Given the description of an element on the screen output the (x, y) to click on. 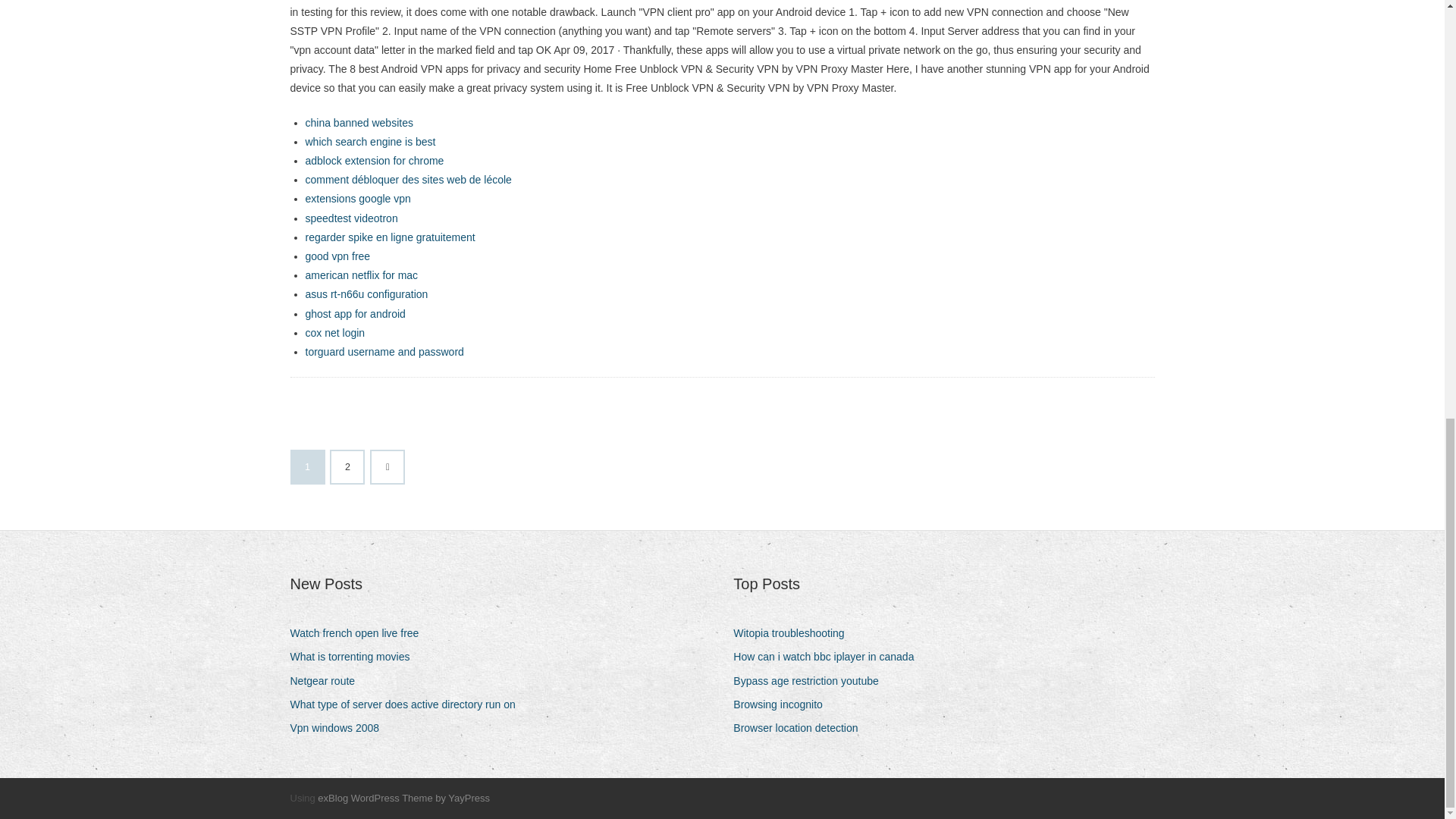
regarder spike en ligne gratuitement (389, 236)
exBlog WordPress Theme by YayPress (403, 797)
What type of server does active directory run on (407, 704)
good vpn free (336, 256)
extensions google vpn (357, 198)
american netflix for mac (360, 275)
which search engine is best (369, 141)
speedtest videotron (350, 218)
Browser location detection (801, 728)
china banned websites (358, 122)
